Given the description of an element on the screen output the (x, y) to click on. 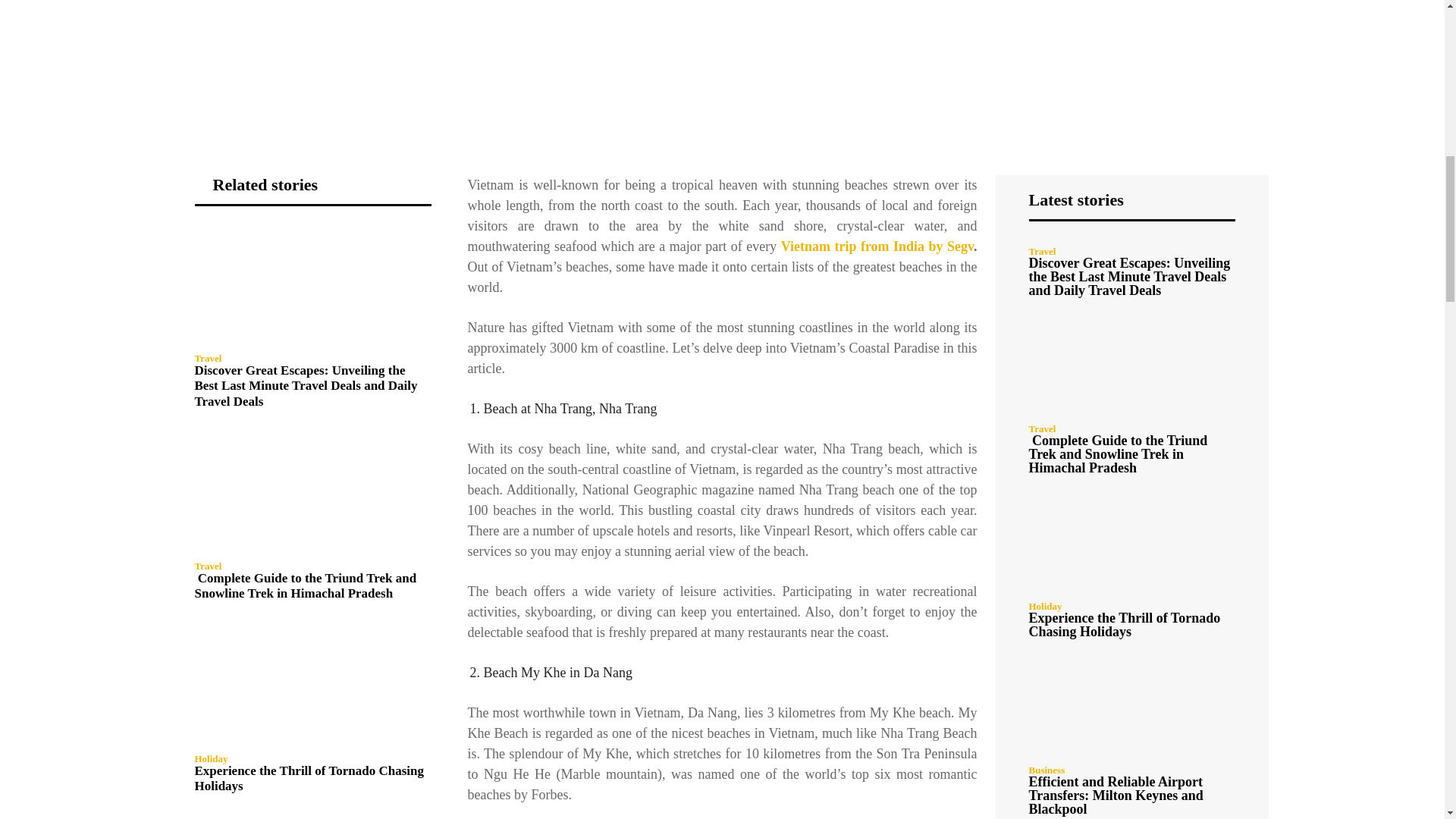
Experience the Thrill of Tornado Chasing Holidays (311, 684)
Travel (207, 357)
Experience the Thrill of Tornado Chasing Holidays (308, 778)
Holiday (210, 758)
Experience the Thrill of Tornado Chasing Holidays (308, 778)
Travel (207, 565)
